Given the description of an element on the screen output the (x, y) to click on. 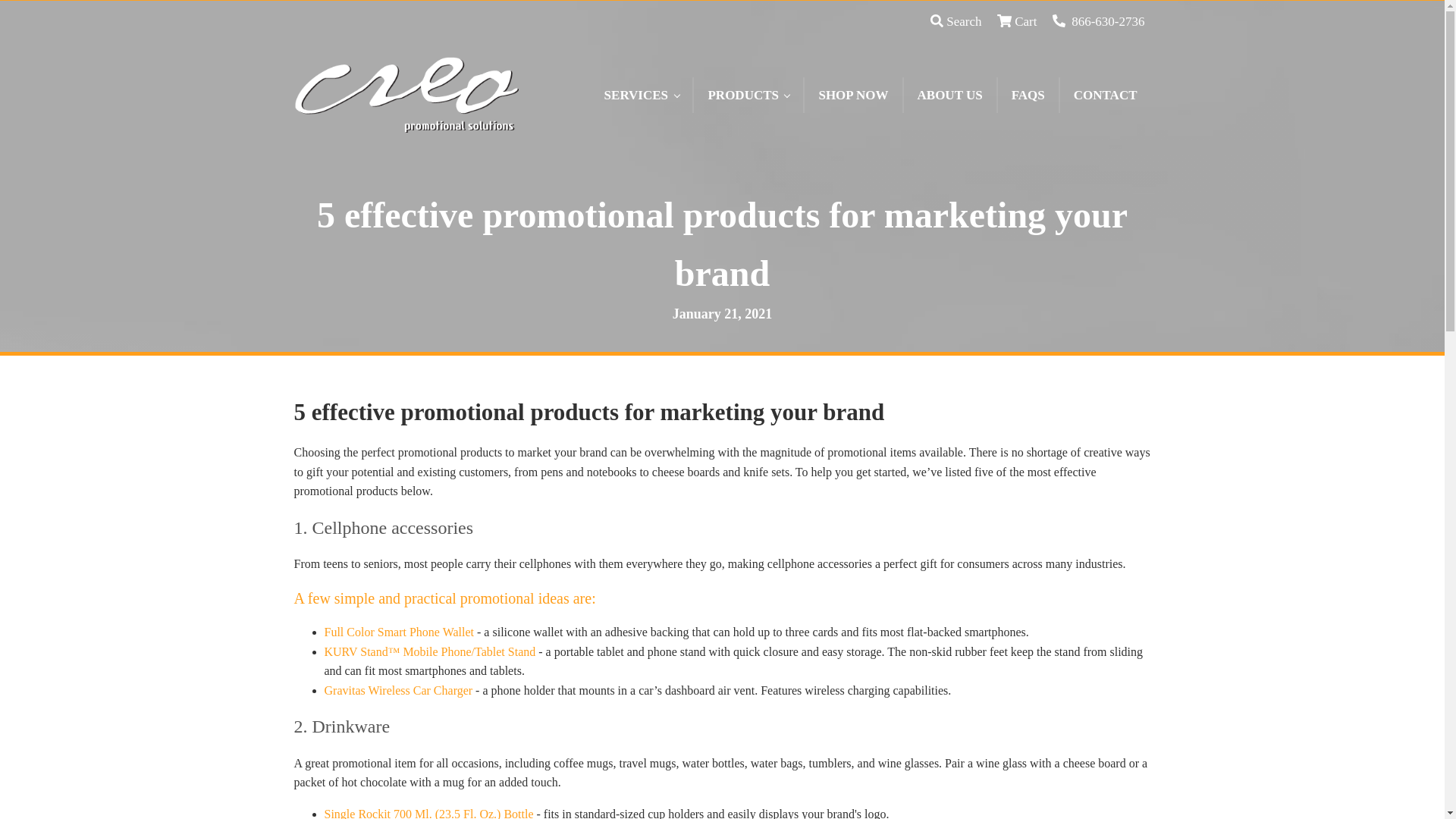
PRODUCTS (748, 94)
Gravitas Wireless Car Charger (398, 689)
CONTACT (1105, 94)
Full Color Smart Phone Wallet (399, 631)
SERVICES (642, 94)
FAQS (1027, 94)
Cart (1016, 21)
ABOUT US (949, 94)
SHOP NOW (853, 94)
Search (955, 21)
 866-630-2736 (1098, 21)
